Given the description of an element on the screen output the (x, y) to click on. 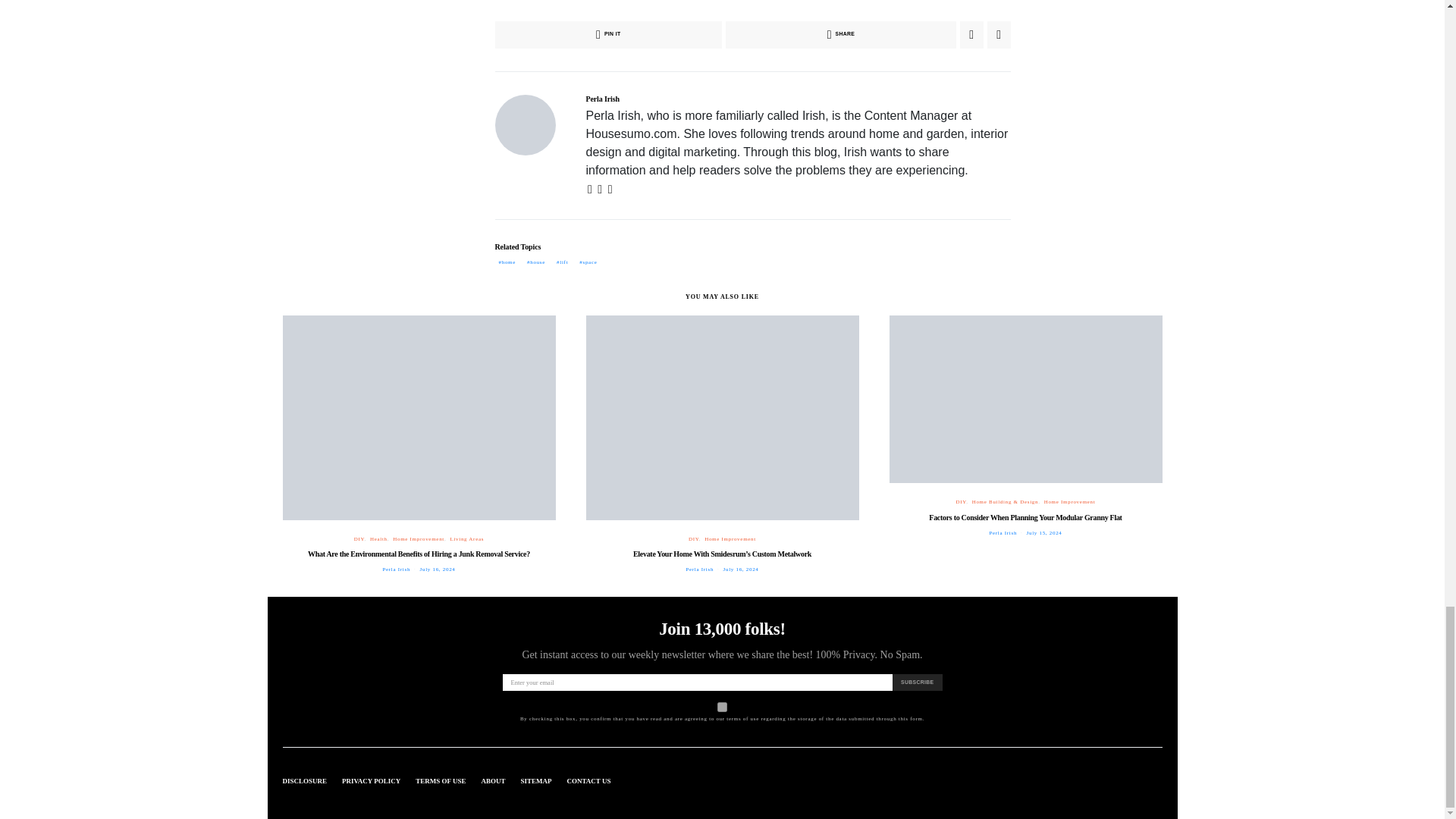
View all posts by Perla Irish (699, 569)
on (722, 706)
View all posts by Perla Irish (1002, 532)
View all posts by Perla Irish (395, 569)
